Given the description of an element on the screen output the (x, y) to click on. 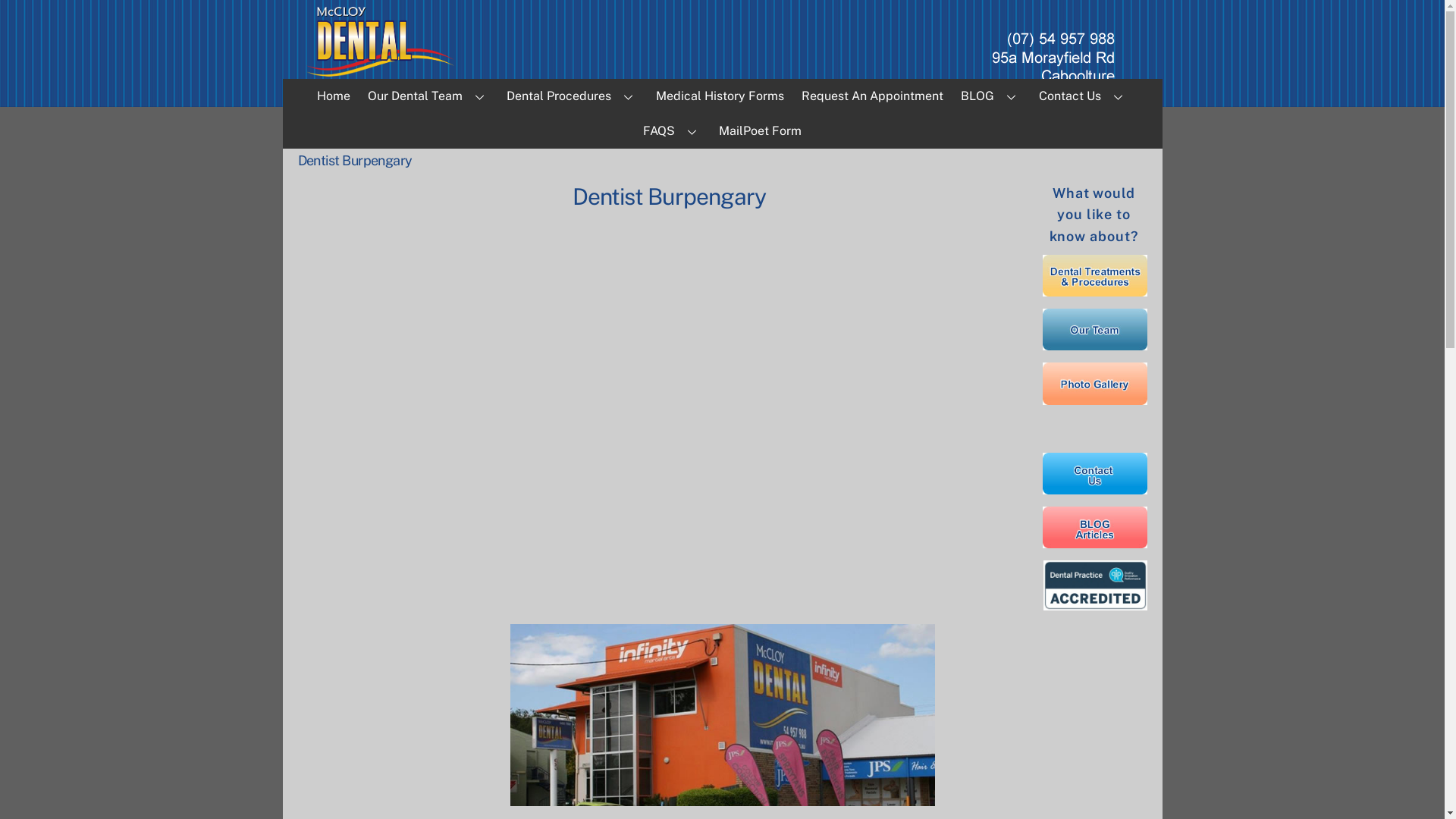
Request An Appointment Element type: text (872, 95)
Contact McCloy Dental Morayfield Element type: hover (1093, 473)
Brisbane sleep apnoea treatment Element type: hover (1093, 527)
FAQS Element type: text (672, 130)
North Brisbane Dental Treatments - TMJ Element type: hover (1093, 275)
Contact Us Element type: text (1083, 95)
Our Dental Team Element type: text (428, 95)
MailPoet Form Element type: text (760, 130)
Team of North Brisbane dentists Element type: hover (1093, 329)
Medical History Forms Element type: text (719, 95)
Sunshine Coast Dentist Element type: hover (1093, 383)
Home Element type: text (333, 95)
McCloy Dental Element type: hover (380, 74)
Dental Procedures Element type: text (572, 95)
BLOG Element type: text (991, 95)
McCloy Dental Caboolture Morayfield Logo nbg Element type: hover (380, 42)
